Given the description of an element on the screen output the (x, y) to click on. 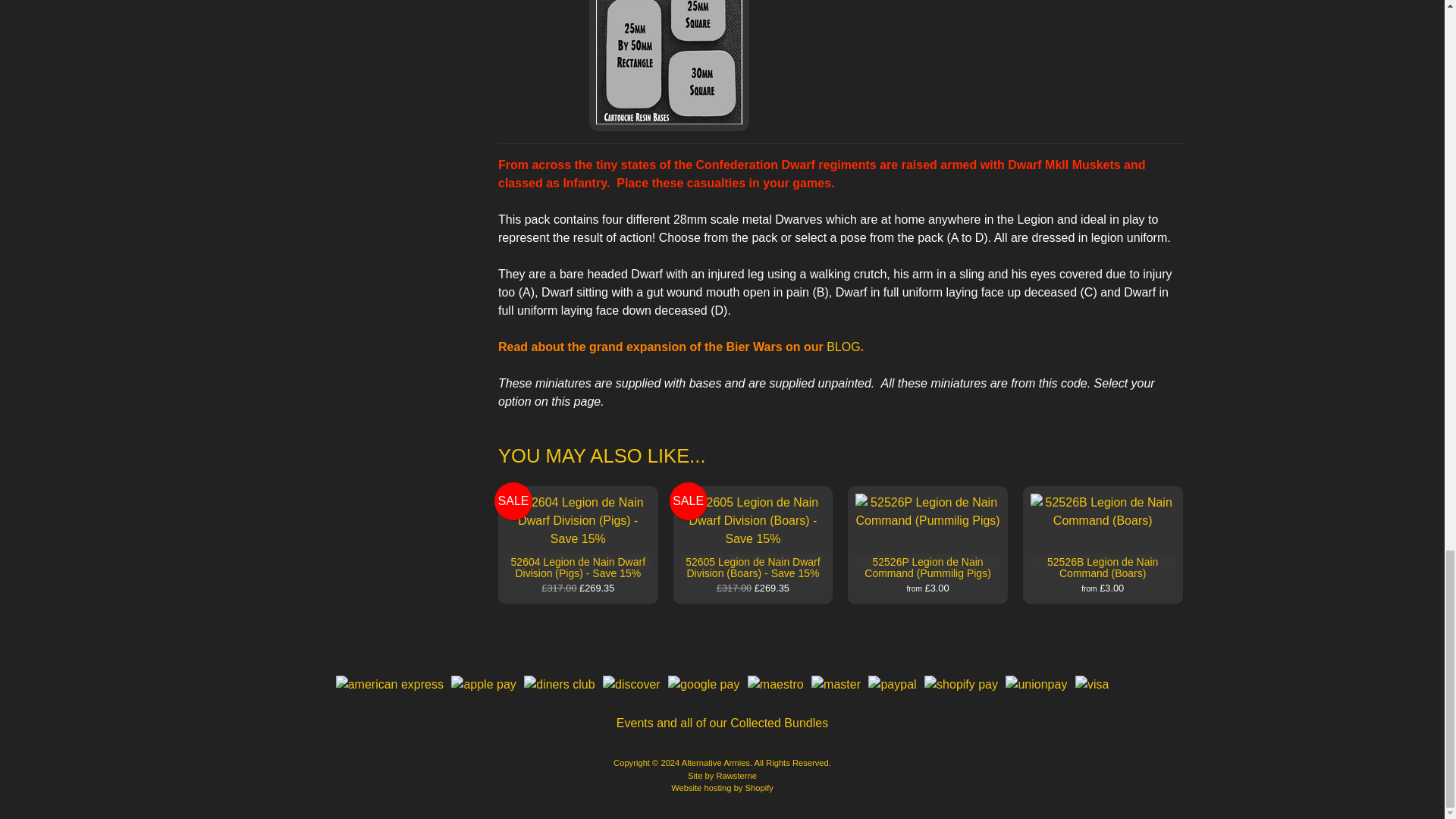
52022 Legion de Nain Casualties (669, 65)
Alternative Armies Blog (843, 346)
